Given the description of an element on the screen output the (x, y) to click on. 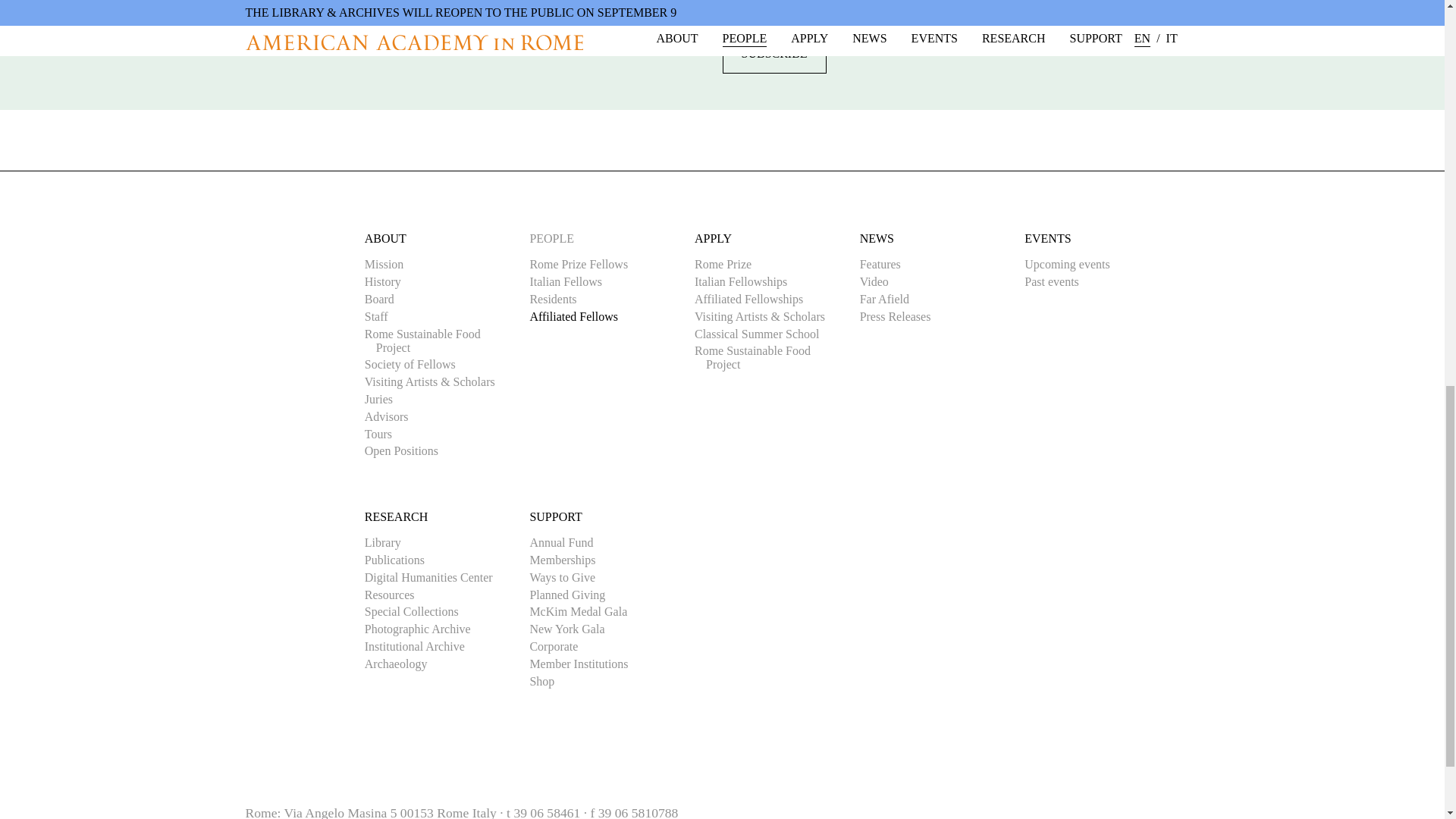
Classical Summer School (762, 334)
Mission (389, 264)
Affiliated Fellowships (754, 299)
Italian Fellows (571, 282)
Tours (383, 434)
Italian Fellowships (746, 282)
Open Positions (406, 450)
APPLY (713, 237)
Subscribe (773, 53)
Rome Prize (728, 264)
American Academy in Rome (305, 261)
PEOPLE (551, 237)
Publications (400, 560)
History (388, 282)
Juries (384, 399)
